Given the description of an element on the screen output the (x, y) to click on. 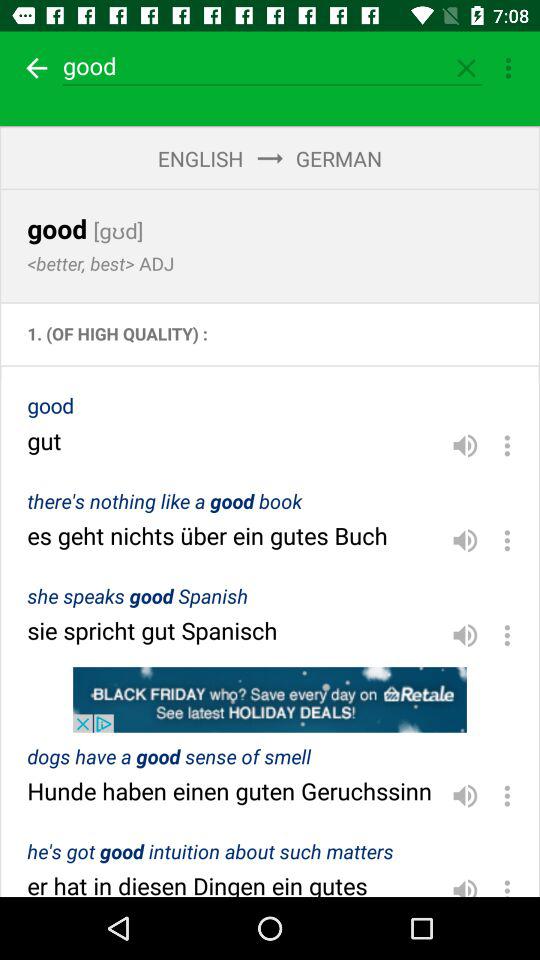
play pronunciation (465, 635)
